Given the description of an element on the screen output the (x, y) to click on. 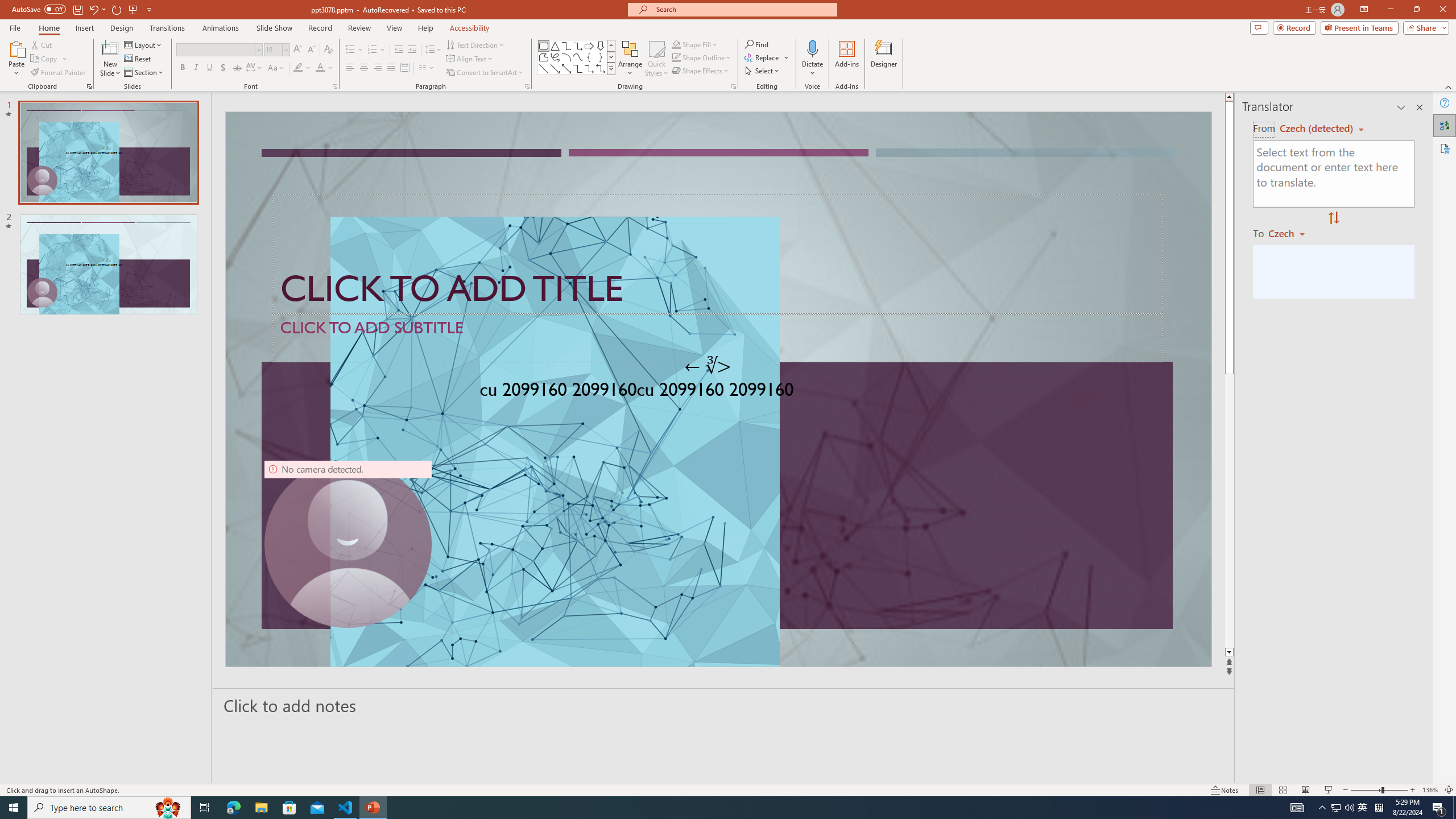
Connector: Elbow Double-Arrow (600, 68)
